Given the description of an element on the screen output the (x, y) to click on. 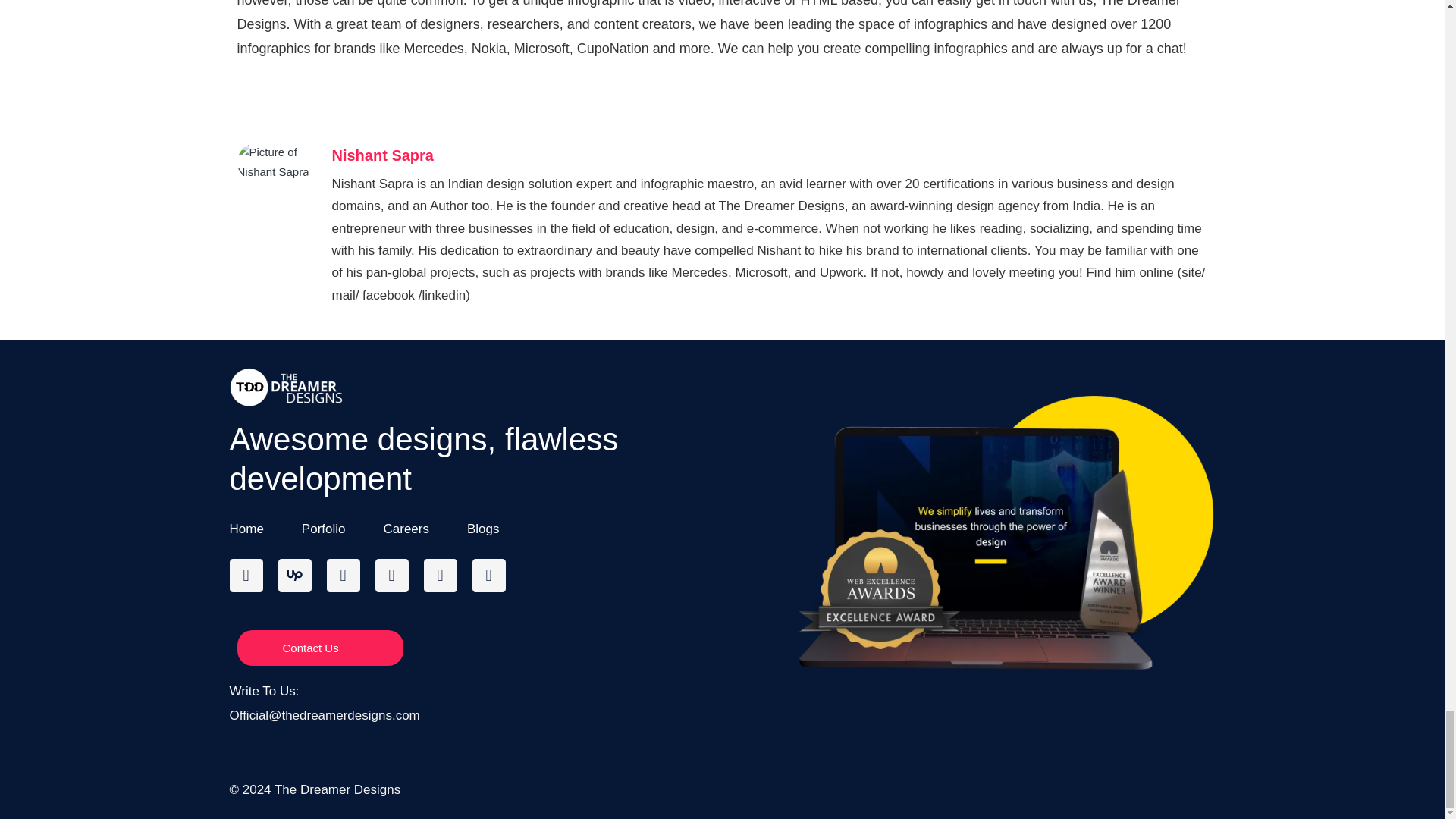
 get in touch (1009, 3)
Home (245, 528)
Porfolio (323, 528)
Blogs (483, 528)
Careers (406, 528)
